Given the description of an element on the screen output the (x, y) to click on. 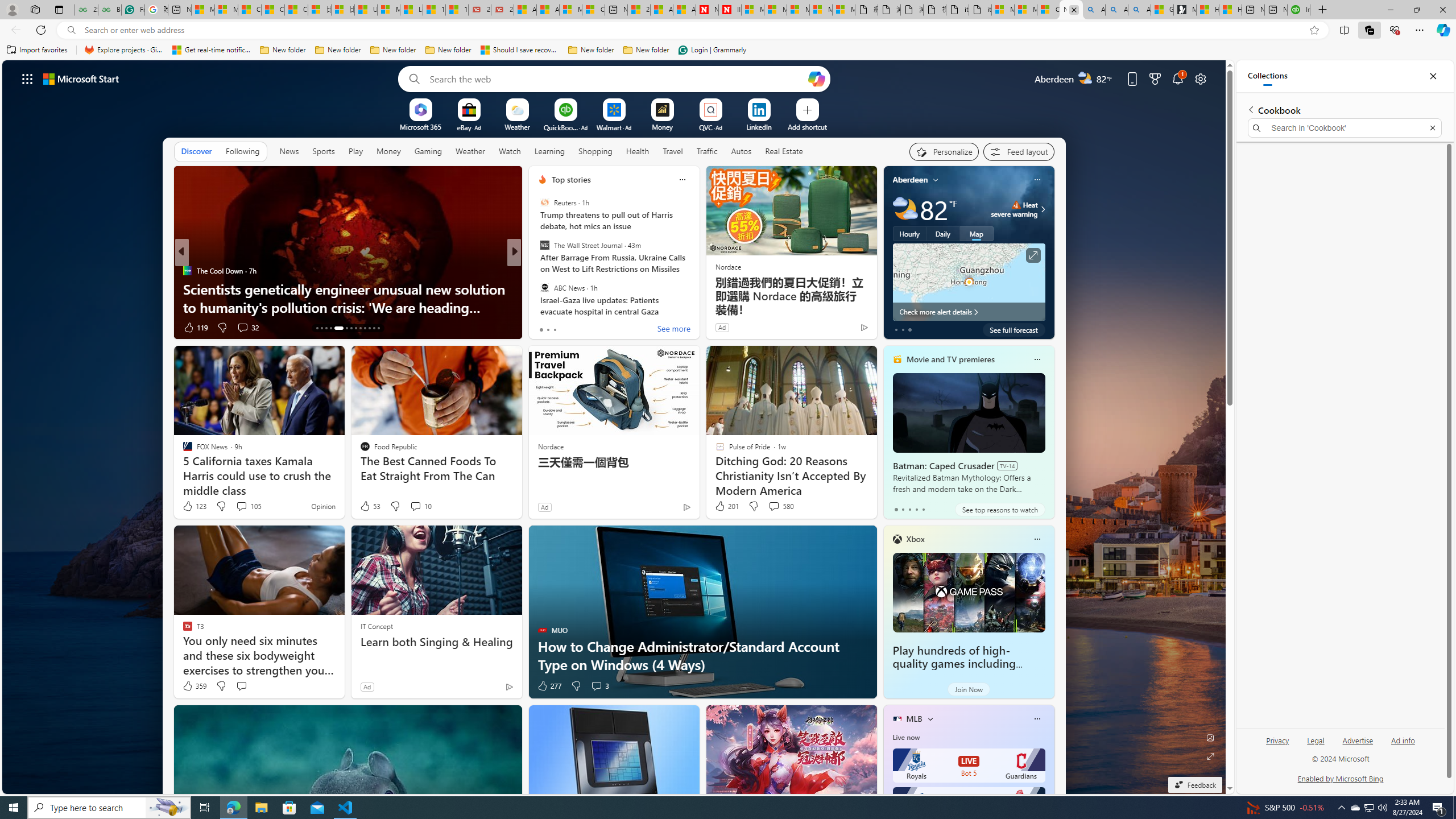
Housely (537, 288)
TechRadar (537, 270)
Illness news & latest pictures from Newsweek.com (729, 9)
15 Deep Ocean Myths Busted by Science (697, 307)
33 Like (543, 327)
Lifestyle - MSN (411, 9)
